Given the description of an element on the screen output the (x, y) to click on. 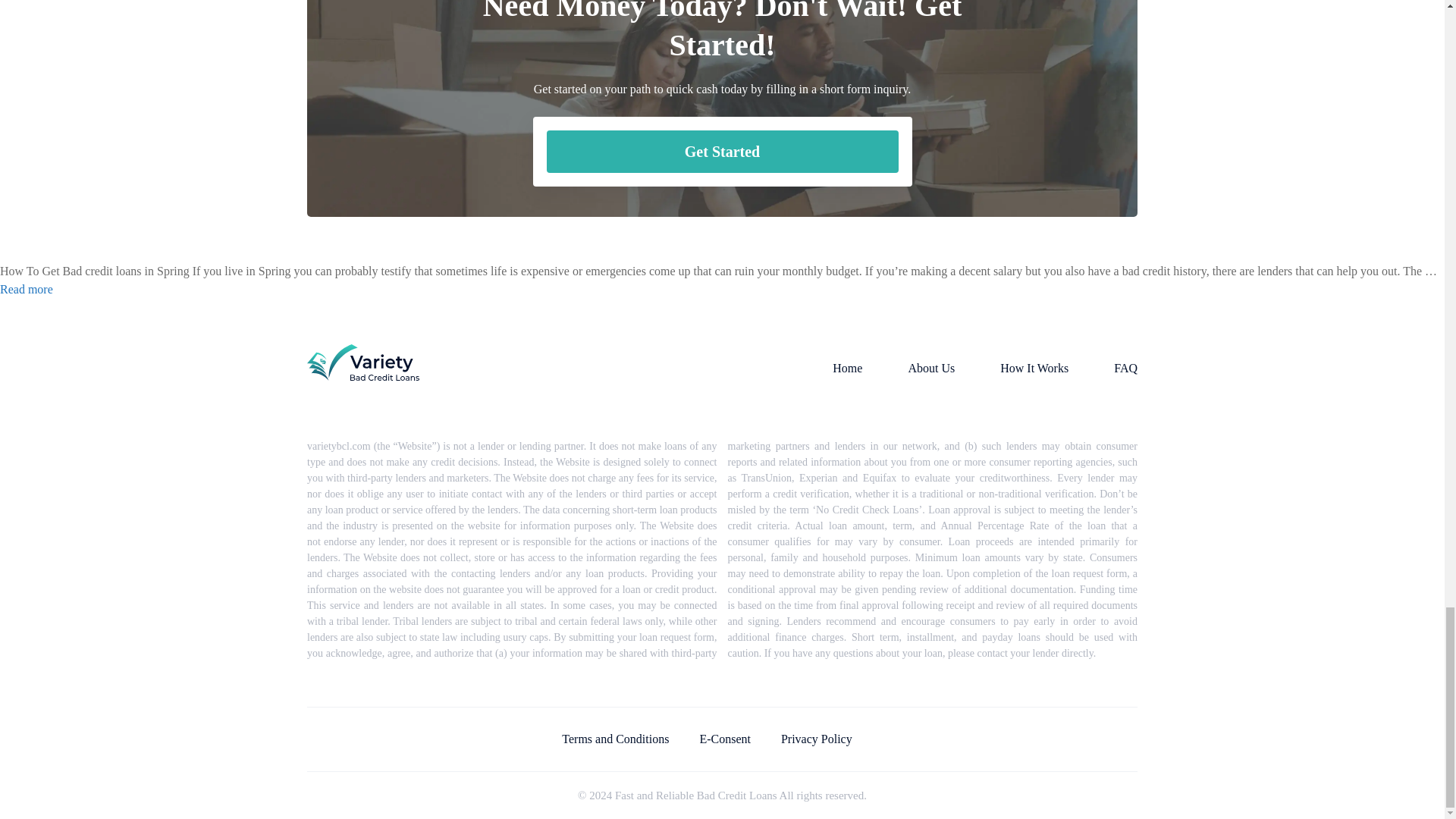
About Us (931, 367)
Get Started (722, 151)
Read more (26, 288)
Terms and Conditions (615, 738)
E-Consent (724, 738)
Spring (26, 288)
FAQ (1125, 367)
Home (846, 367)
Privacy Policy (815, 738)
How It Works (1034, 367)
